Given the description of an element on the screen output the (x, y) to click on. 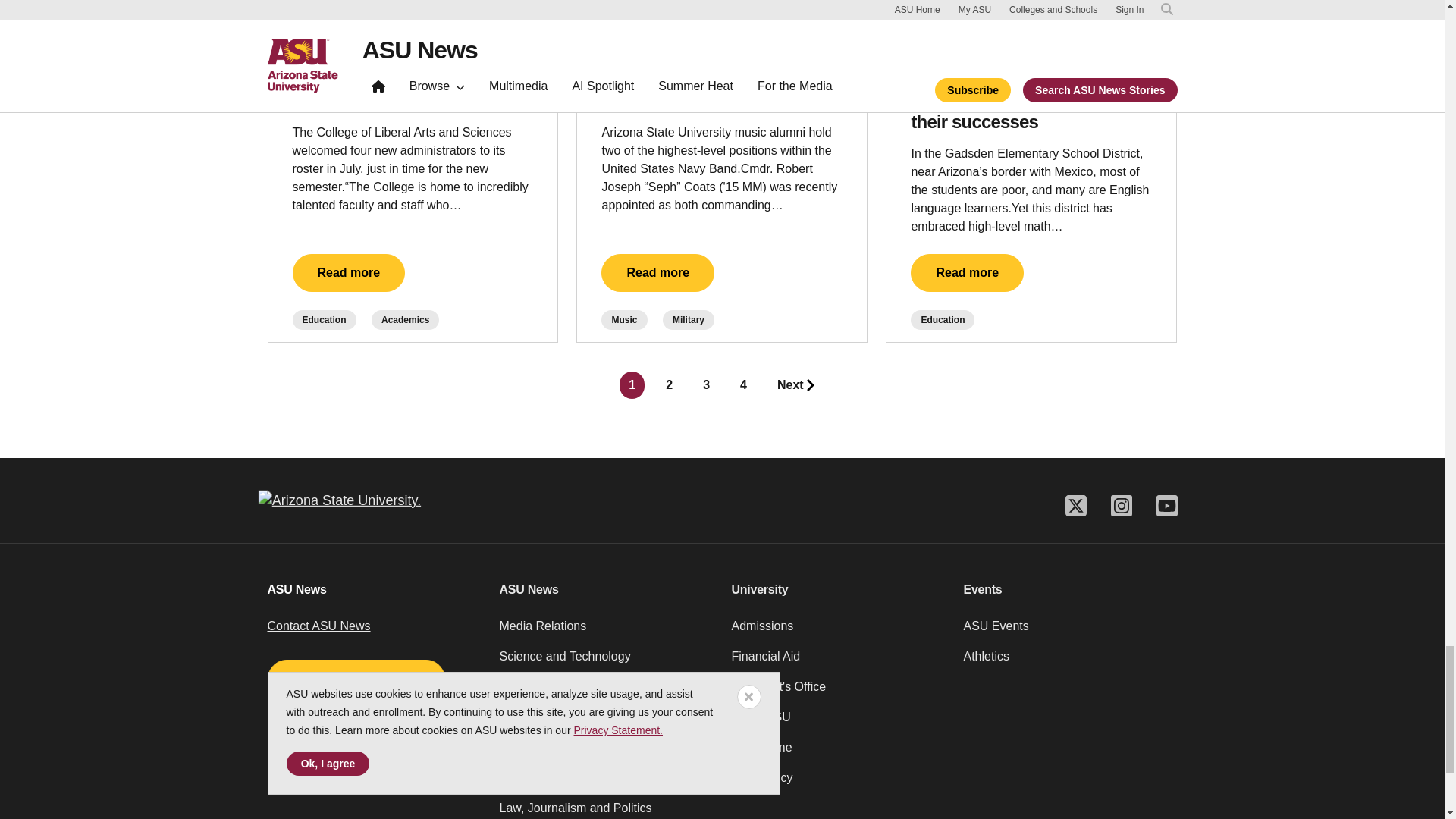
Go to page 4 (742, 384)
Current page (632, 384)
Go to page 2 (668, 384)
Go to last page (796, 384)
Go to page 3 (706, 384)
